Given the description of an element on the screen output the (x, y) to click on. 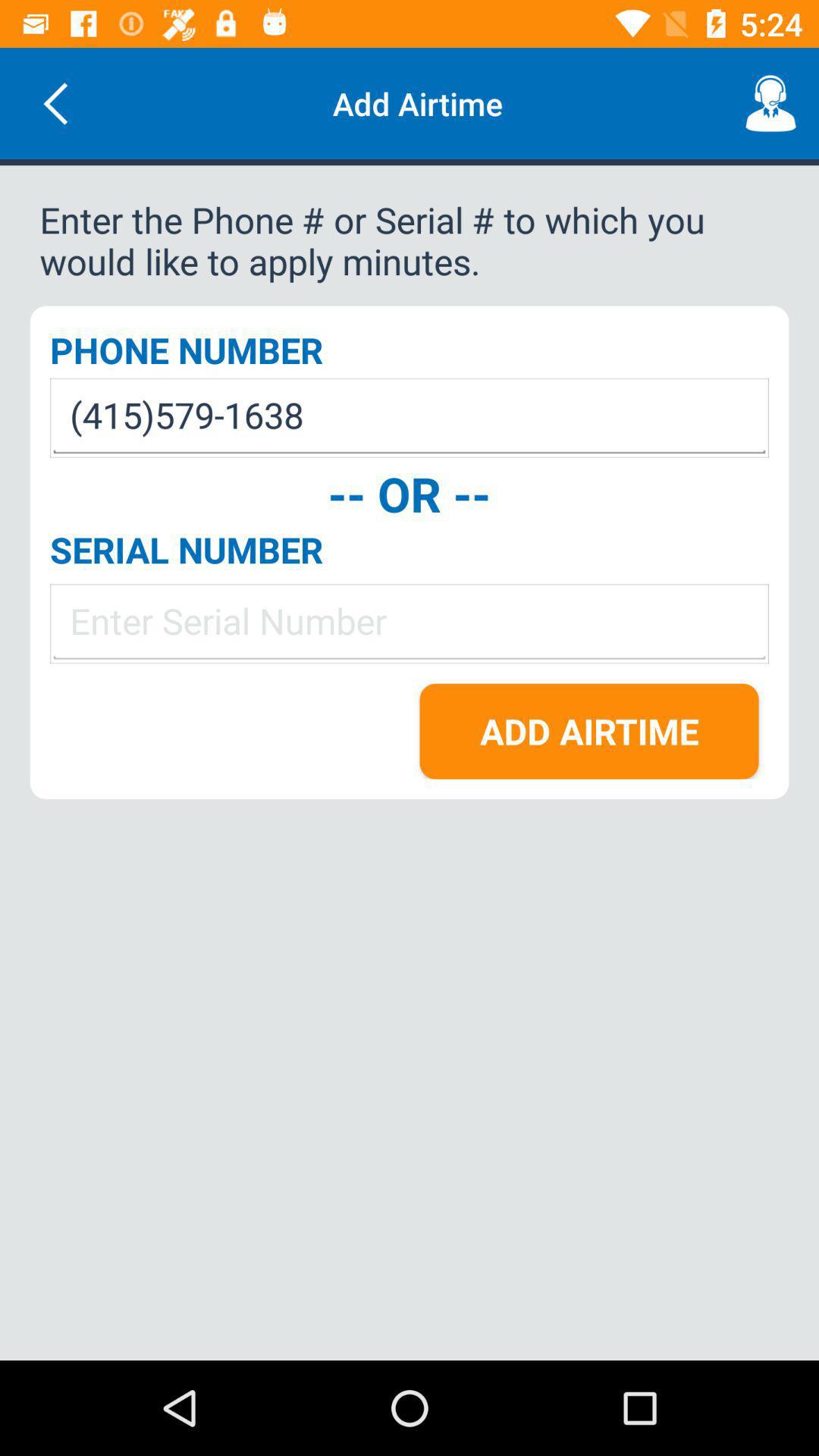
turn on the item above the add airtime icon (409, 623)
